Given the description of an element on the screen output the (x, y) to click on. 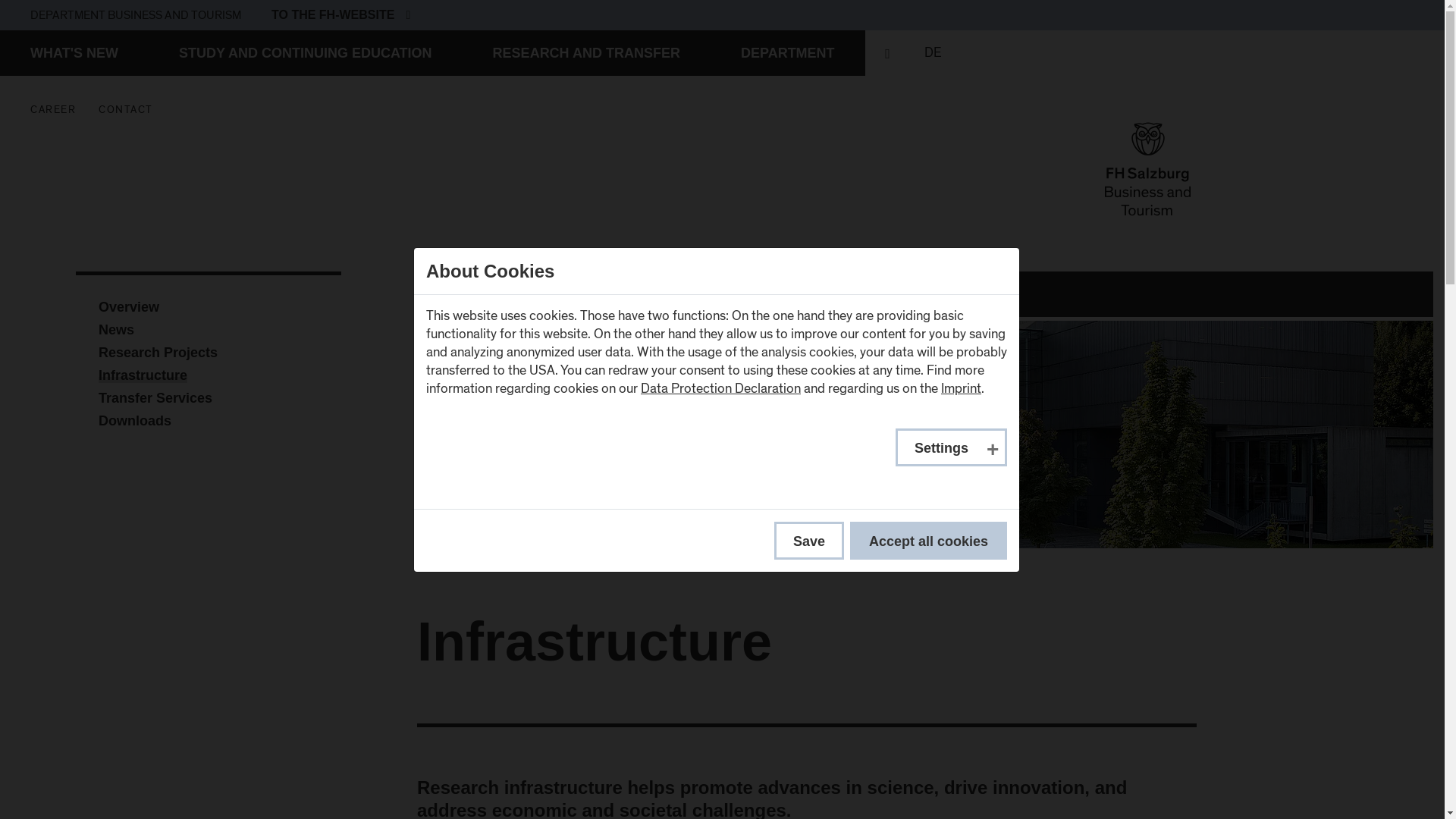
German (933, 52)
RESEARCH AND TRANSFER (586, 53)
DEPARTMENT BUSINESS AND TOURISM (135, 14)
STUDY AND CONTINUING EDUCATION (305, 53)
Back to Research at the Department (924, 293)
to the FH-Website (403, 14)
DEPARTMENT (340, 14)
WHAT'S NEW (787, 53)
